Given the description of an element on the screen output the (x, y) to click on. 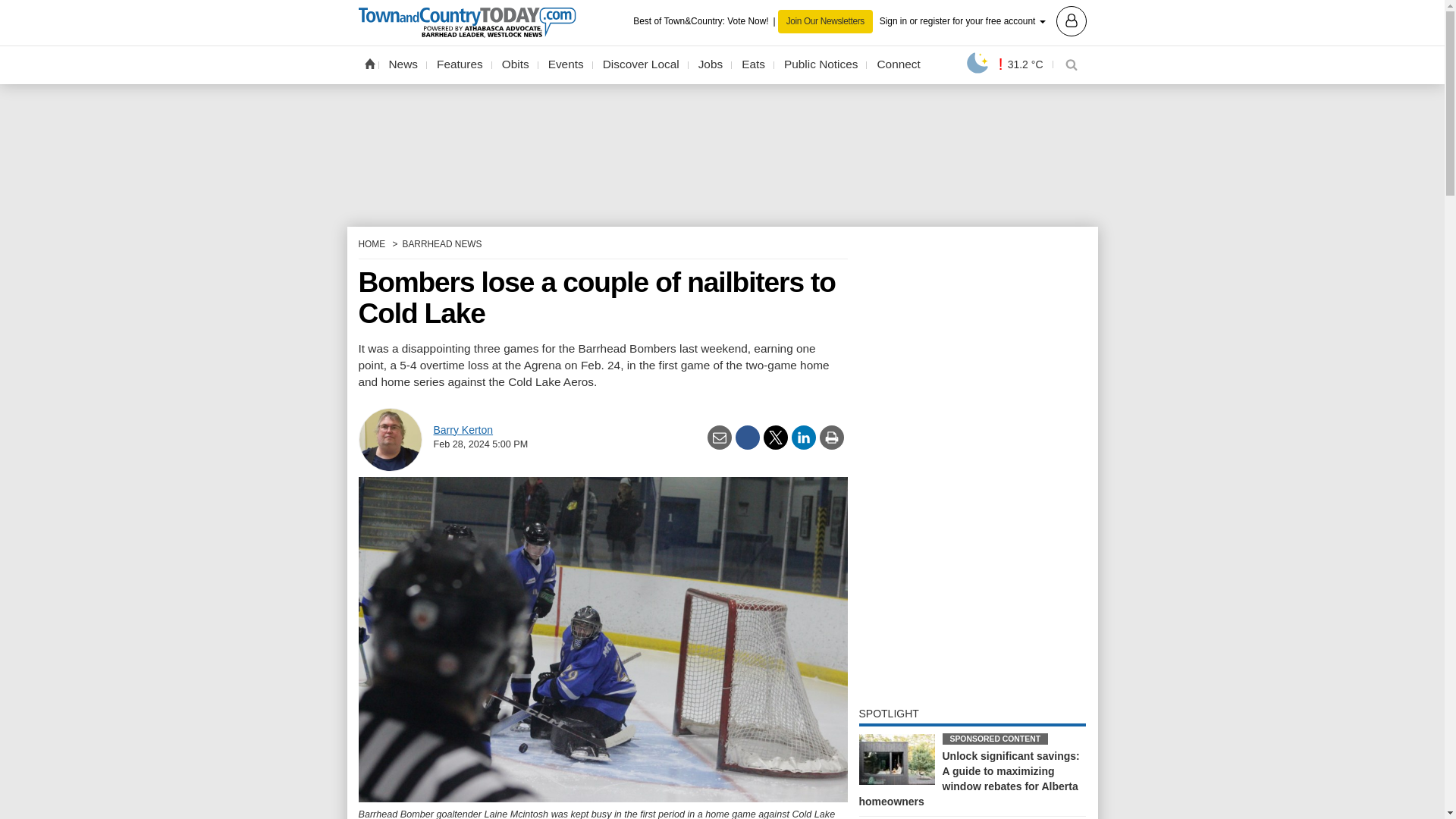
Sign in or register for your free account (982, 20)
Join Our Newsletters (824, 21)
Home (368, 63)
3rd party ad content (722, 154)
